Given the description of an element on the screen output the (x, y) to click on. 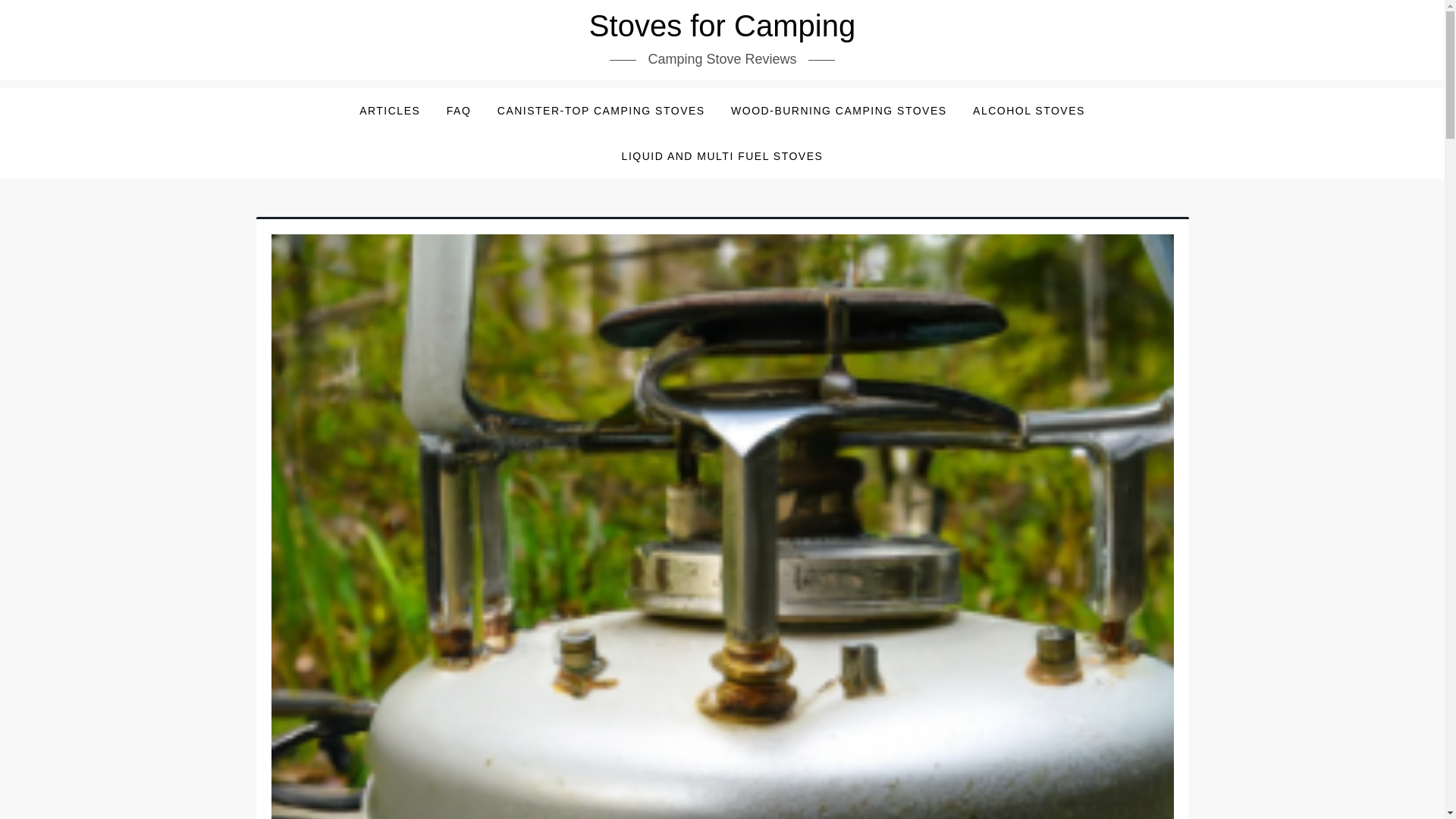
FAQ (459, 110)
CANISTER-TOP CAMPING STOVES (601, 110)
LIQUID AND MULTI FUEL STOVES (722, 156)
ARTICLES (388, 110)
Stoves for Camping (722, 25)
WOOD-BURNING CAMPING STOVES (838, 110)
ALCOHOL STOVES (1028, 110)
